Given the description of an element on the screen output the (x, y) to click on. 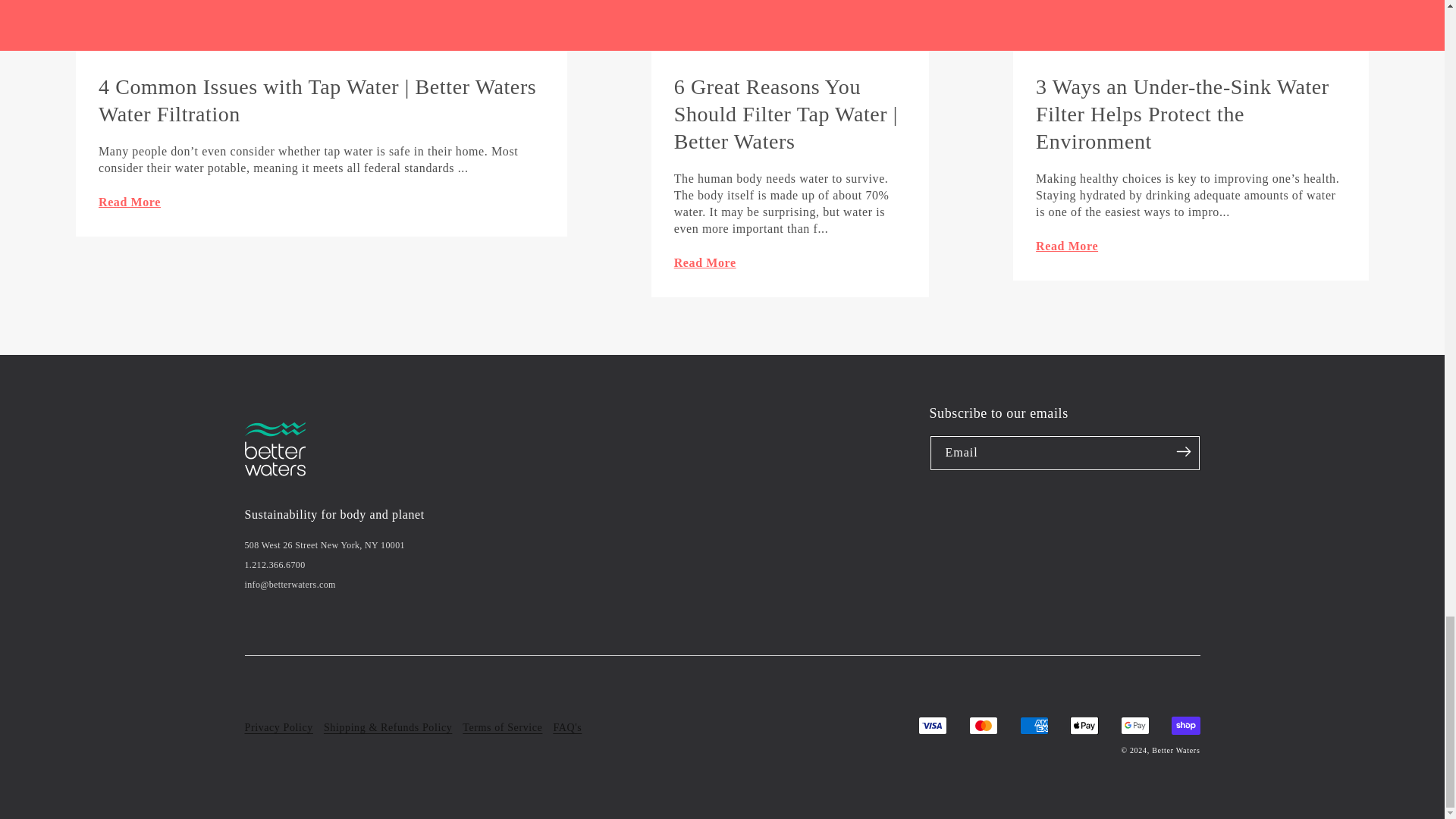
Read More (1190, 246)
Read More (321, 202)
Shop Pay (1184, 725)
Apple Pay (1084, 725)
Privacy Policy (278, 727)
FAQ's (566, 727)
Mastercard (983, 725)
Better Waters (1175, 750)
Visa (932, 725)
Read More (790, 263)
